Given the description of an element on the screen output the (x, y) to click on. 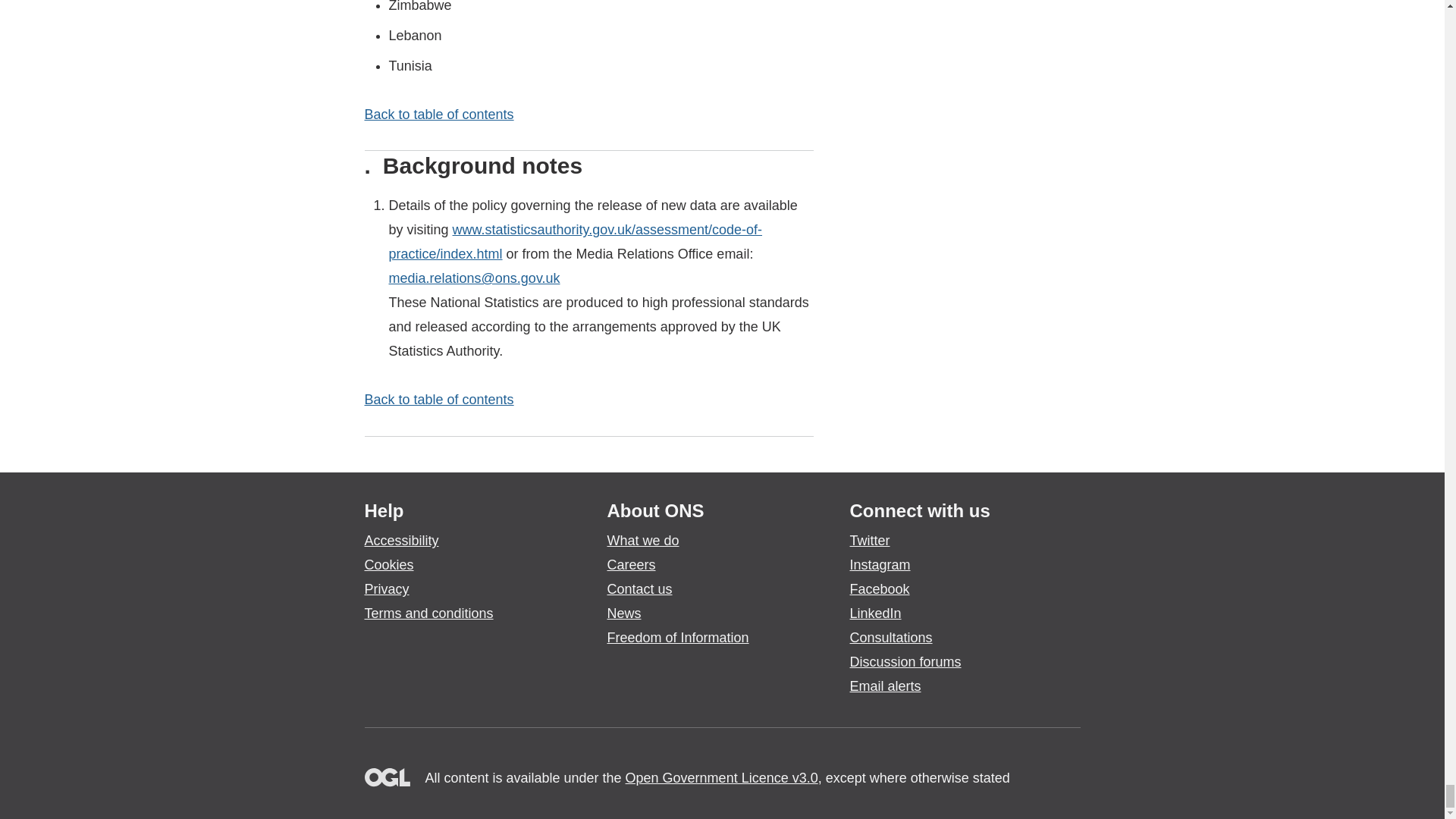
Back to table of contents (438, 399)
Back to table of contents (438, 114)
